Given the description of an element on the screen output the (x, y) to click on. 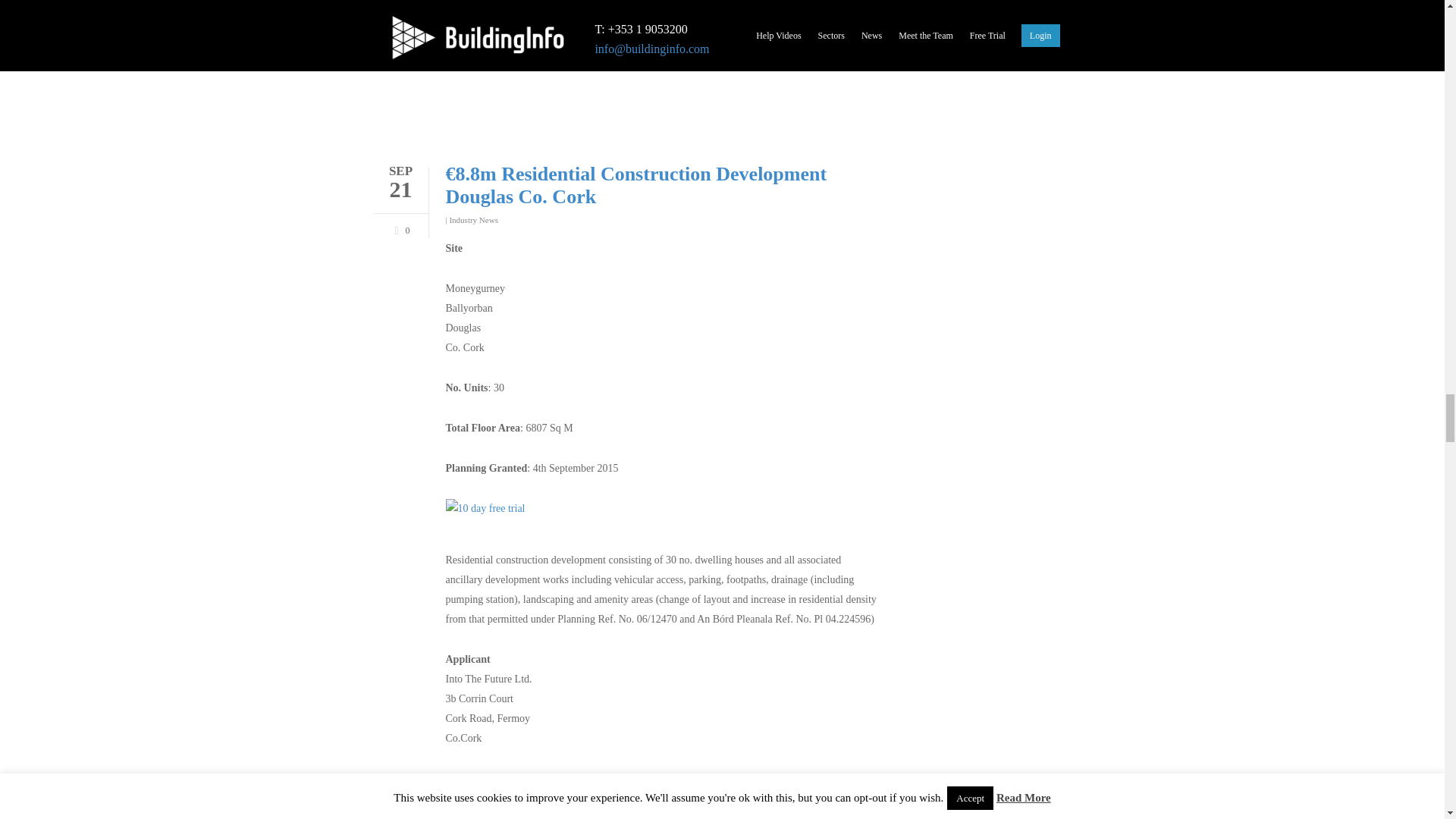
Love this (399, 228)
